Given the description of an element on the screen output the (x, y) to click on. 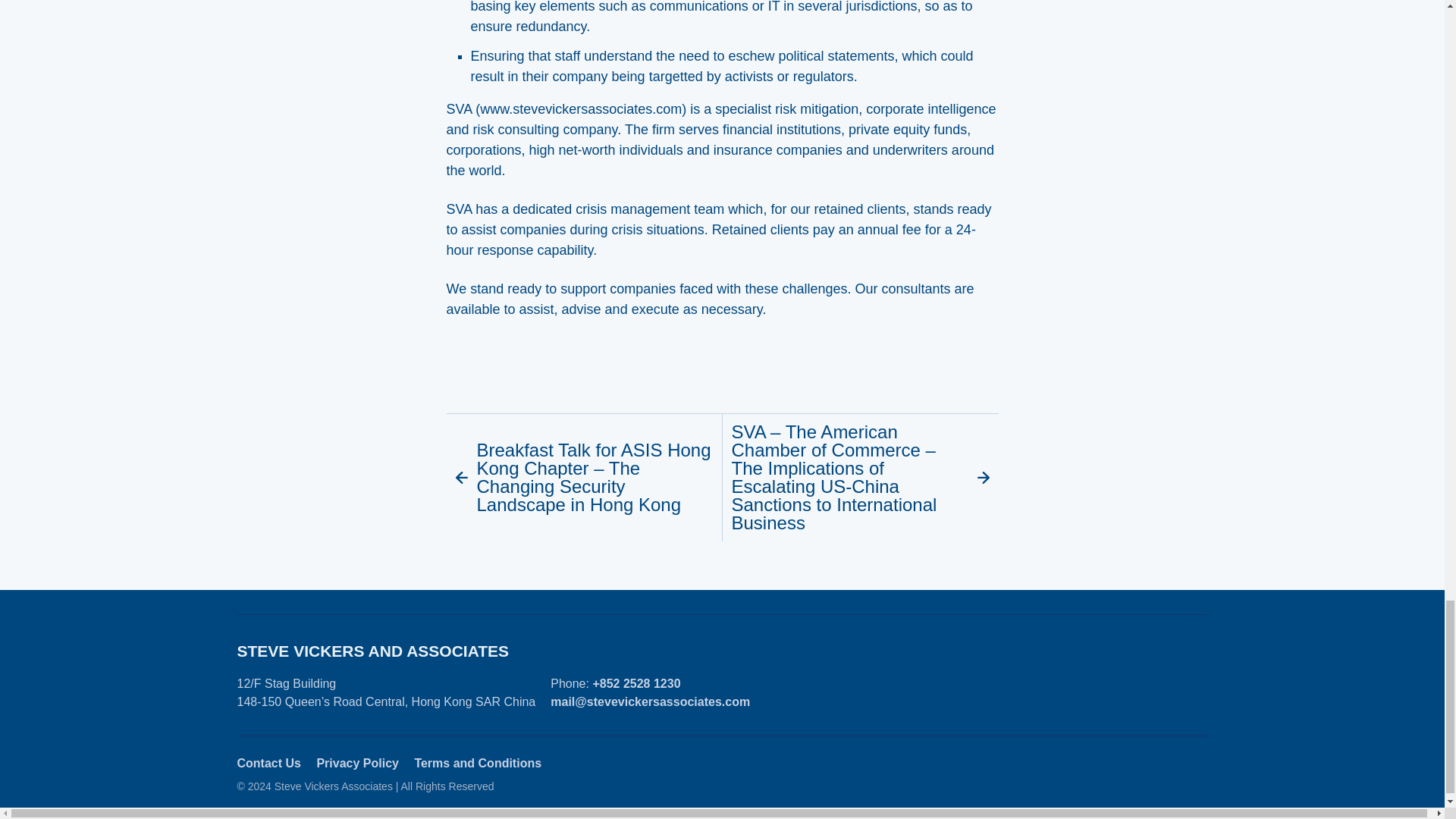
Privacy Policy (356, 762)
Contact Us (267, 762)
www.stevevickersassociates.com (580, 109)
Terms and Conditions (477, 762)
